Given the description of an element on the screen output the (x, y) to click on. 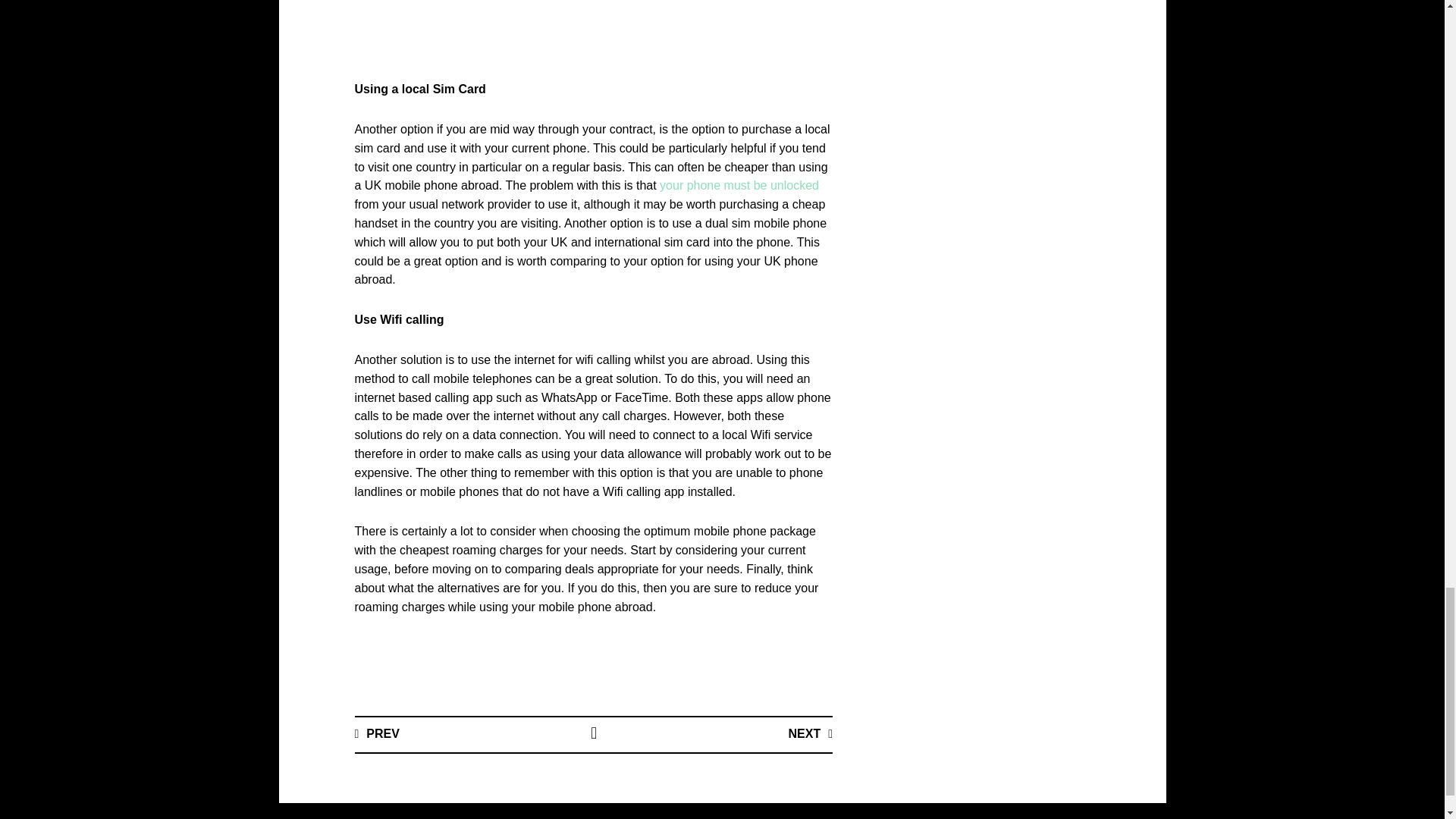
PREV (376, 733)
NEXT (809, 733)
your phone must be unlocked (738, 185)
